Given the description of an element on the screen output the (x, y) to click on. 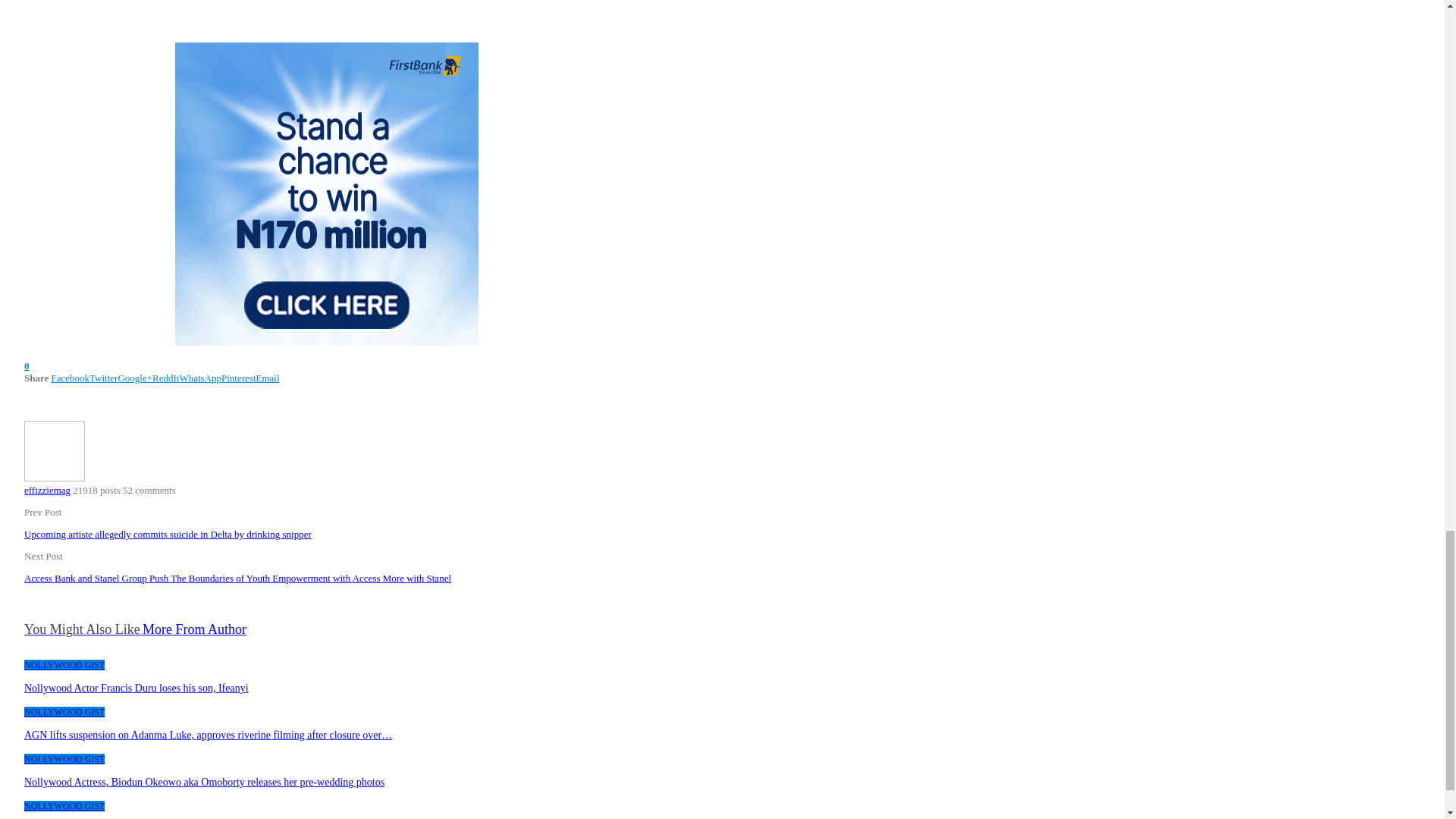
Browse Author Articles (54, 478)
Nollywood Actor Francis Duru loses his son, Ifeanyi (136, 687)
